Given the description of an element on the screen output the (x, y) to click on. 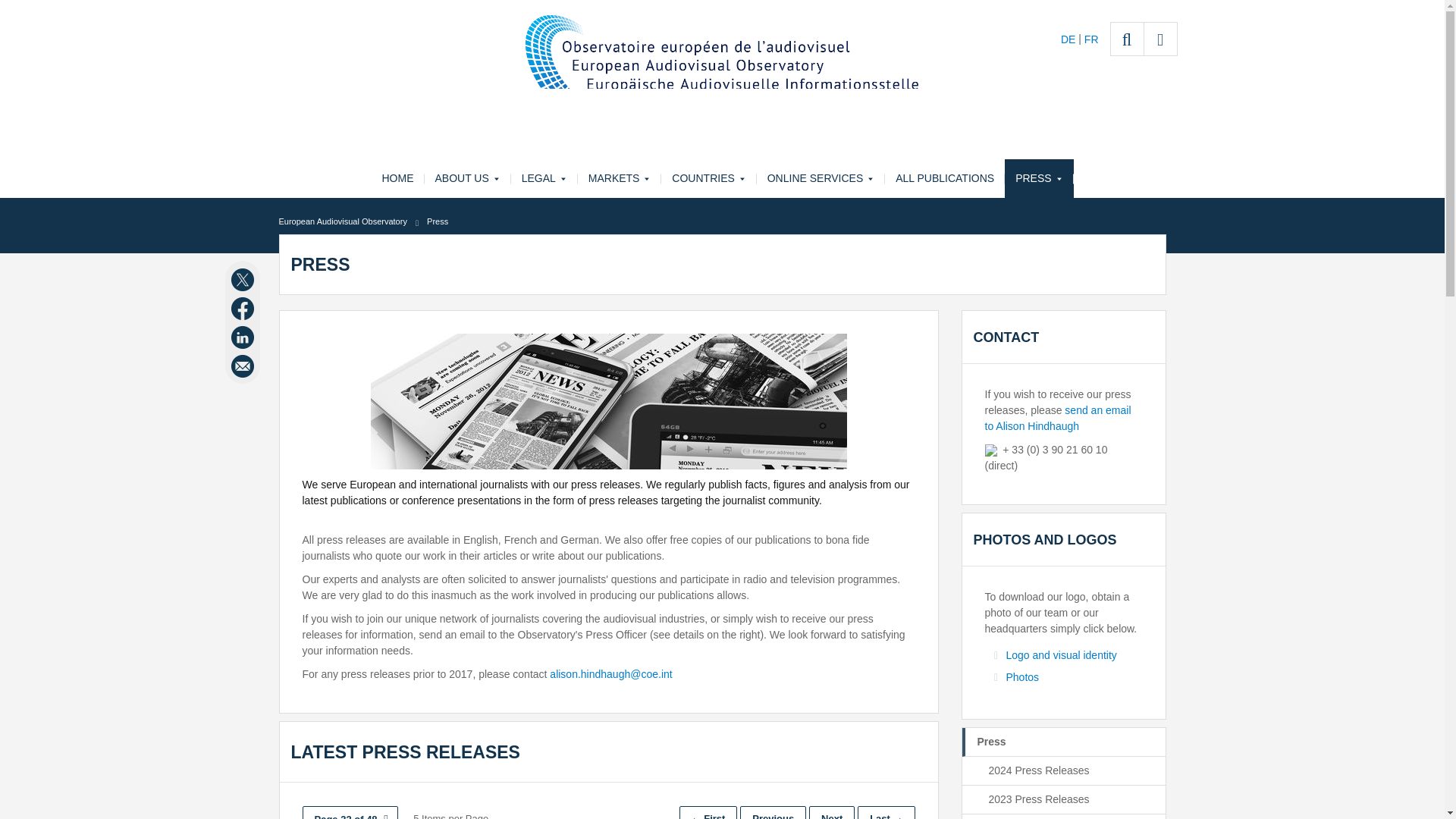
FR (1091, 39)
HOME (398, 178)
Page 32 of 48 (349, 812)
LEGAL (544, 178)
DE (1069, 39)
Share on Linkedin (244, 336)
Share on Facebook (244, 308)
Send this page (244, 365)
ABOUT US (468, 178)
